Given the description of an element on the screen output the (x, y) to click on. 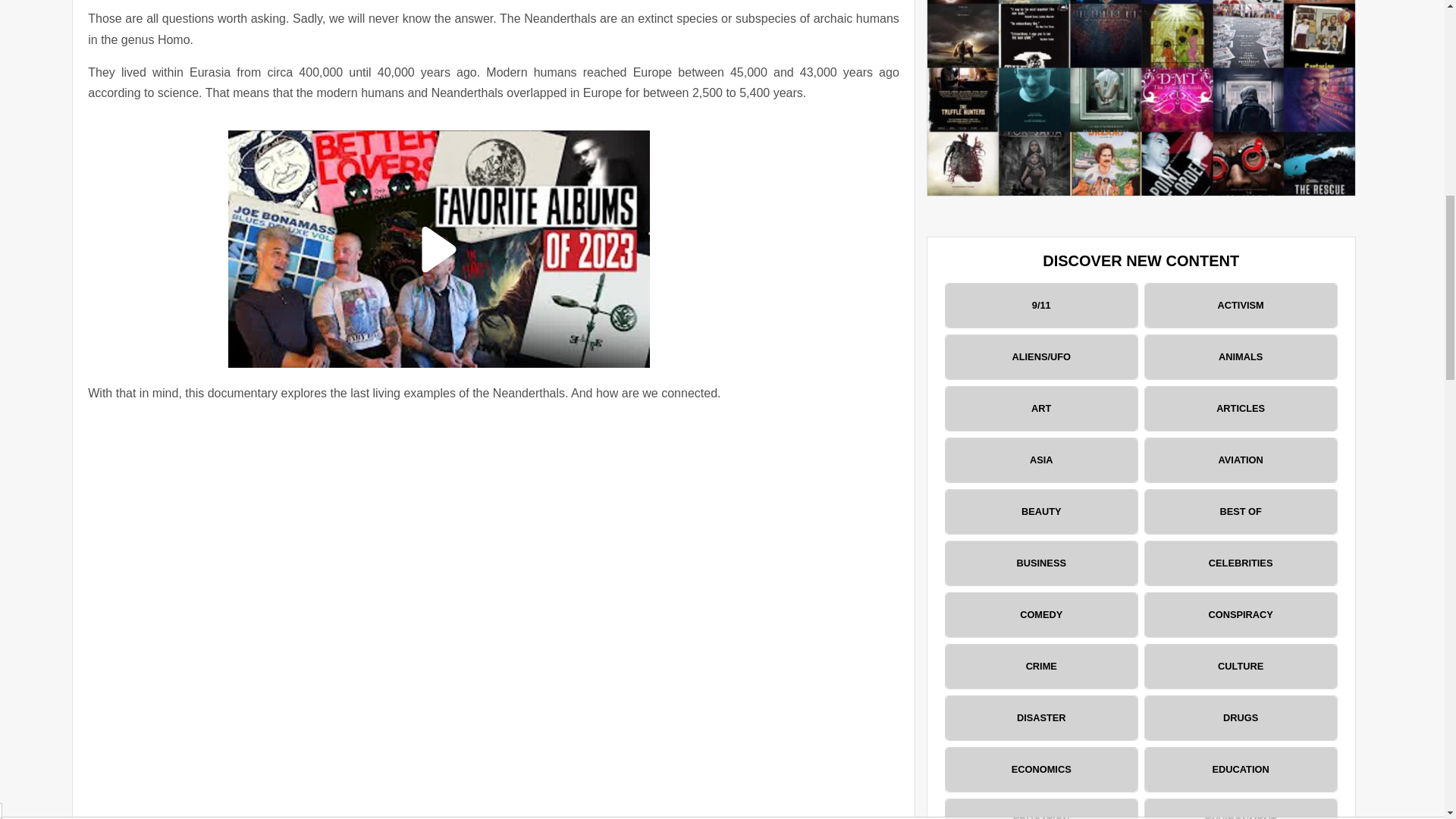
BEST OF (1240, 511)
CELEBRITIES (1240, 563)
EDUCATION (1240, 769)
ARTICLES (1240, 408)
DISASTER (1040, 718)
ACTIVISM (1240, 305)
CONSPIRACY (1240, 614)
ENVIRONMENT (1240, 809)
ECONOMICS (1040, 769)
EDUCATION (1040, 809)
ASIA (1040, 460)
BUSINESS (1040, 563)
BEAUTY (1040, 511)
ANIMALS (1240, 356)
COMEDY (1040, 614)
